Given the description of an element on the screen output the (x, y) to click on. 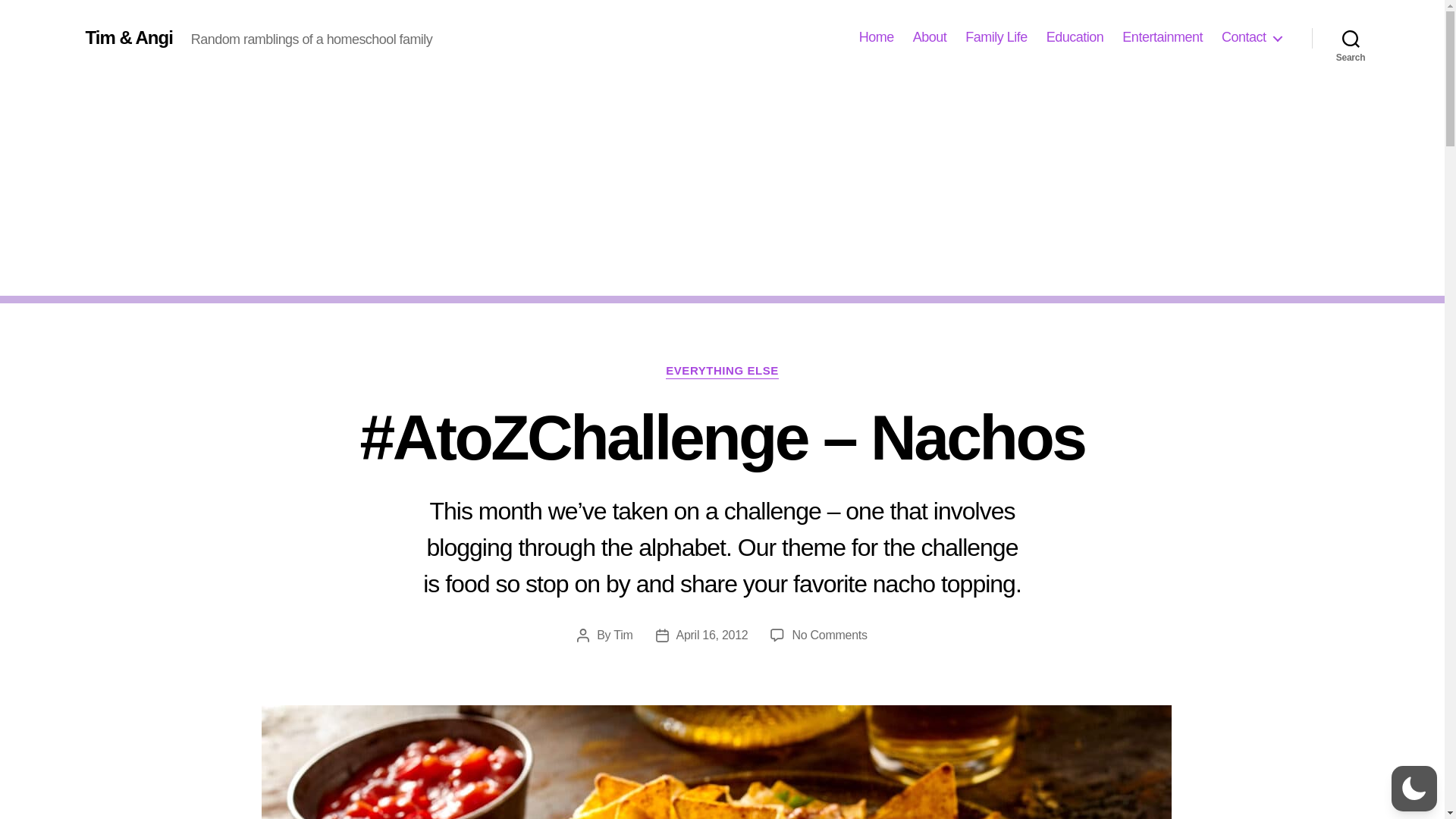
Contact (1251, 37)
Education (1074, 37)
Entertainment (1162, 37)
Family Life (996, 37)
About (929, 37)
Education (1074, 37)
EVERYTHING ELSE (721, 371)
Family Life (996, 37)
Home (876, 37)
Tim (621, 634)
Home (876, 37)
Search (1350, 37)
April 16, 2012 (712, 634)
About (929, 37)
